Given the description of an element on the screen output the (x, y) to click on. 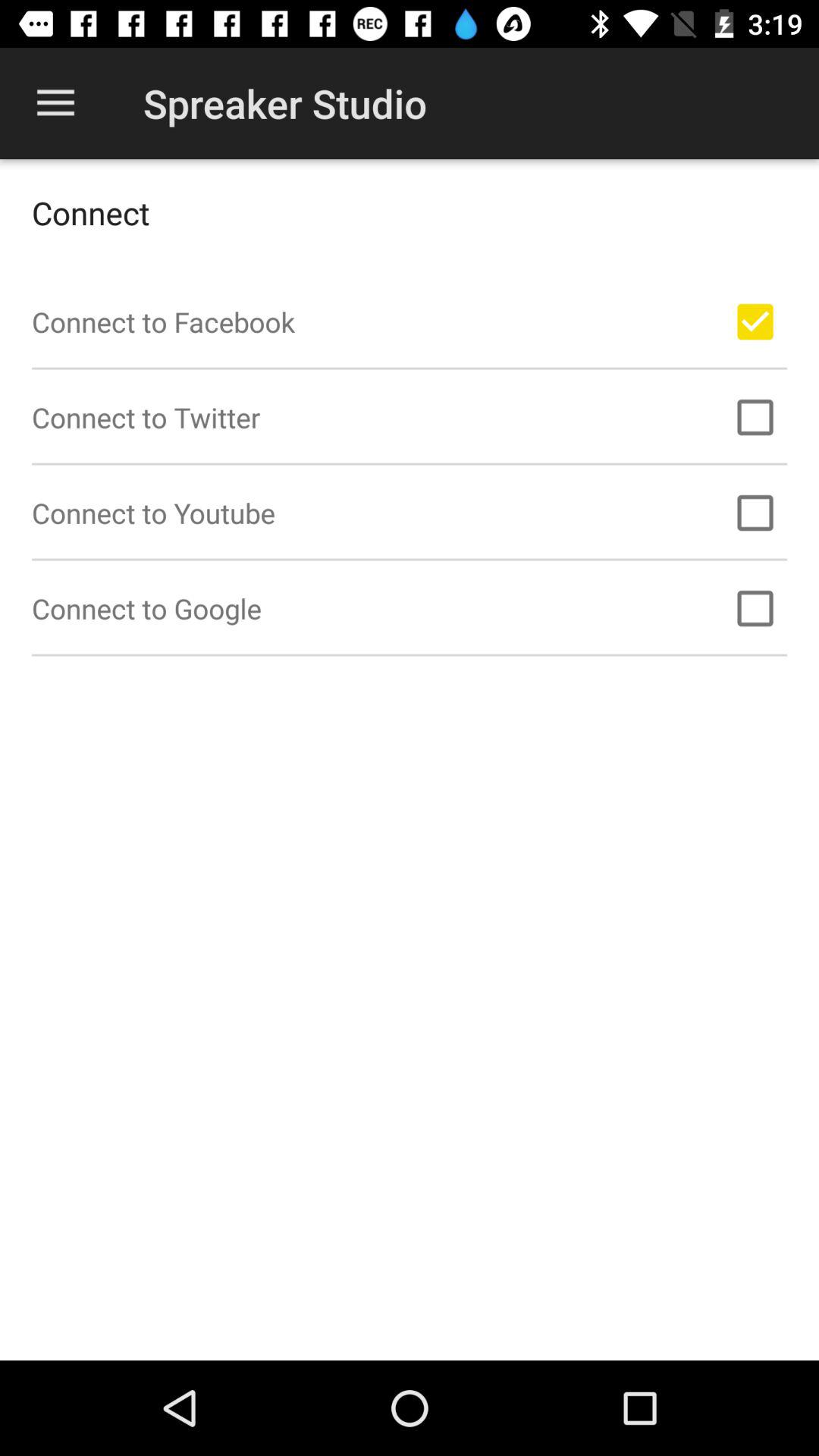
select connect to youtube (755, 512)
